Given the description of an element on the screen output the (x, y) to click on. 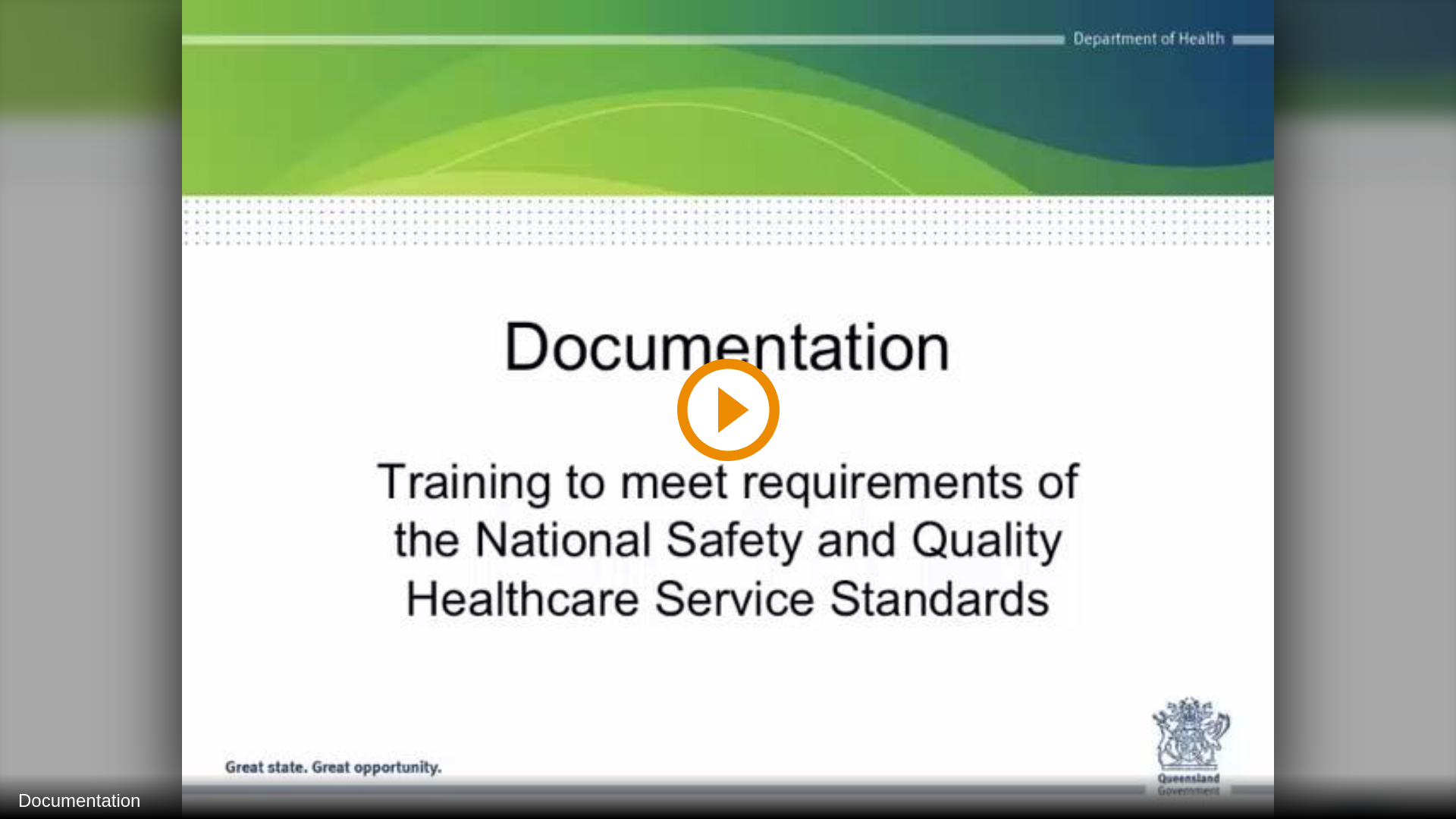
Play Video Element type: text (727, 408)
